Given the description of an element on the screen output the (x, y) to click on. 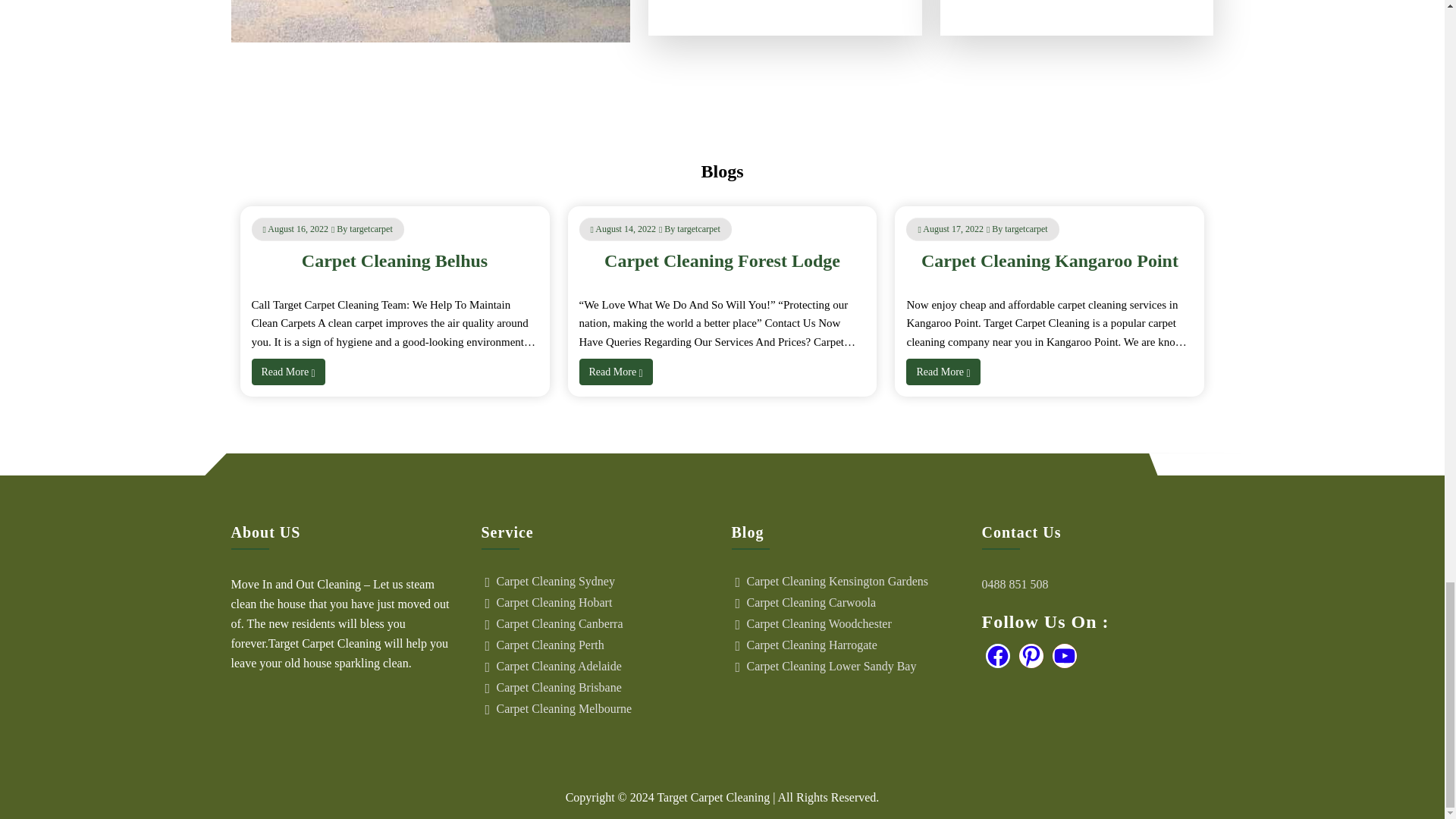
Carpet Cleaning Forest Lodge (722, 260)
Carpet Cleaning Hobart (604, 602)
Carpet Cleaning Kangaroo Point (1049, 260)
Carpet Cleaning Kangaroo Point (1049, 260)
Carpet Cleaning Brisbane (604, 687)
Read More (942, 371)
Carpet Cleaning Belhus (394, 260)
Carpet Cleaning Sydney (604, 581)
Carpet Cleaning Forest Lodge (722, 260)
Carpet Cleaning Adelaide (604, 666)
